Given the description of an element on the screen output the (x, y) to click on. 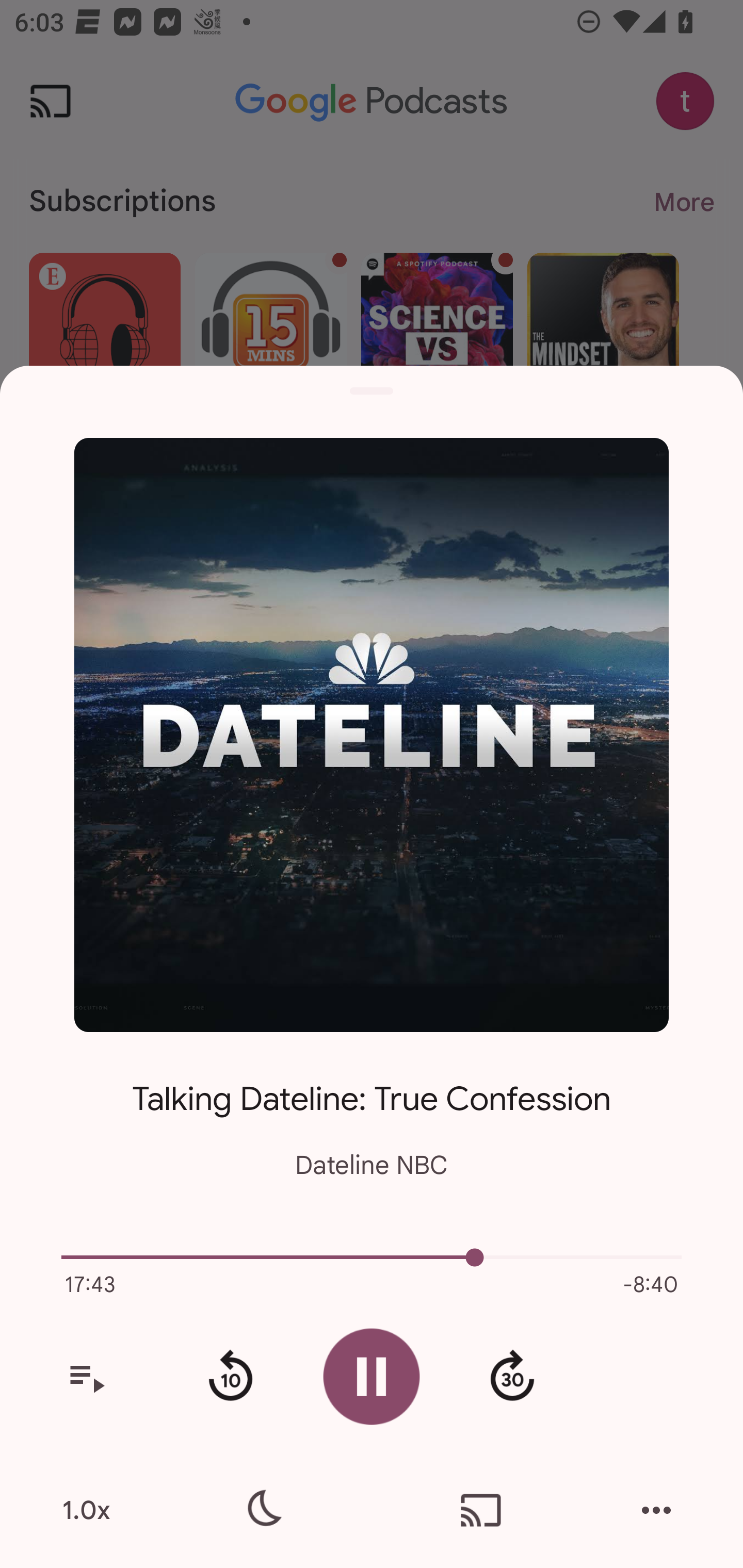
Open the show page for Dateline NBC (371, 734)
Talking Dateline: True Confession Dateline NBC (371, 1115)
6715.0 Current episode playback (371, 1257)
Pause (371, 1376)
View your queue (86, 1376)
Rewind 10 seconds (230, 1376)
Fast forward 30 second (511, 1376)
1.0x Playback speed is 1.0. (86, 1510)
Sleep timer settings (261, 1510)
Cast. Disconnected (480, 1510)
More actions (655, 1510)
